Given the description of an element on the screen output the (x, y) to click on. 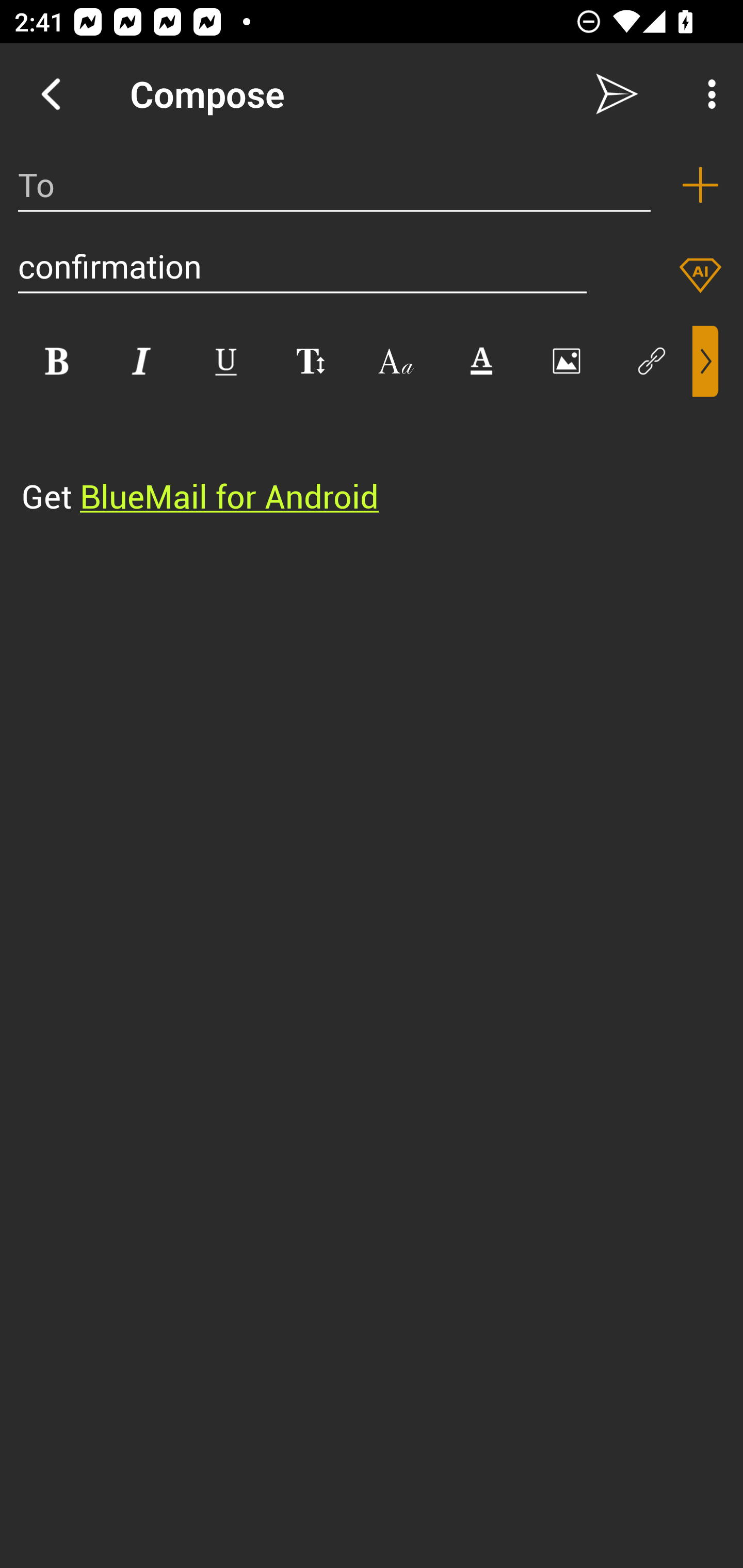
Navigate up (50, 93)
Send (616, 93)
More Options (706, 93)
To (334, 184)
Add recipient (To) (699, 184)
confirmation (302, 266)


⁣Get BlueMail for Android ​ (355, 457)
